Given the description of an element on the screen output the (x, y) to click on. 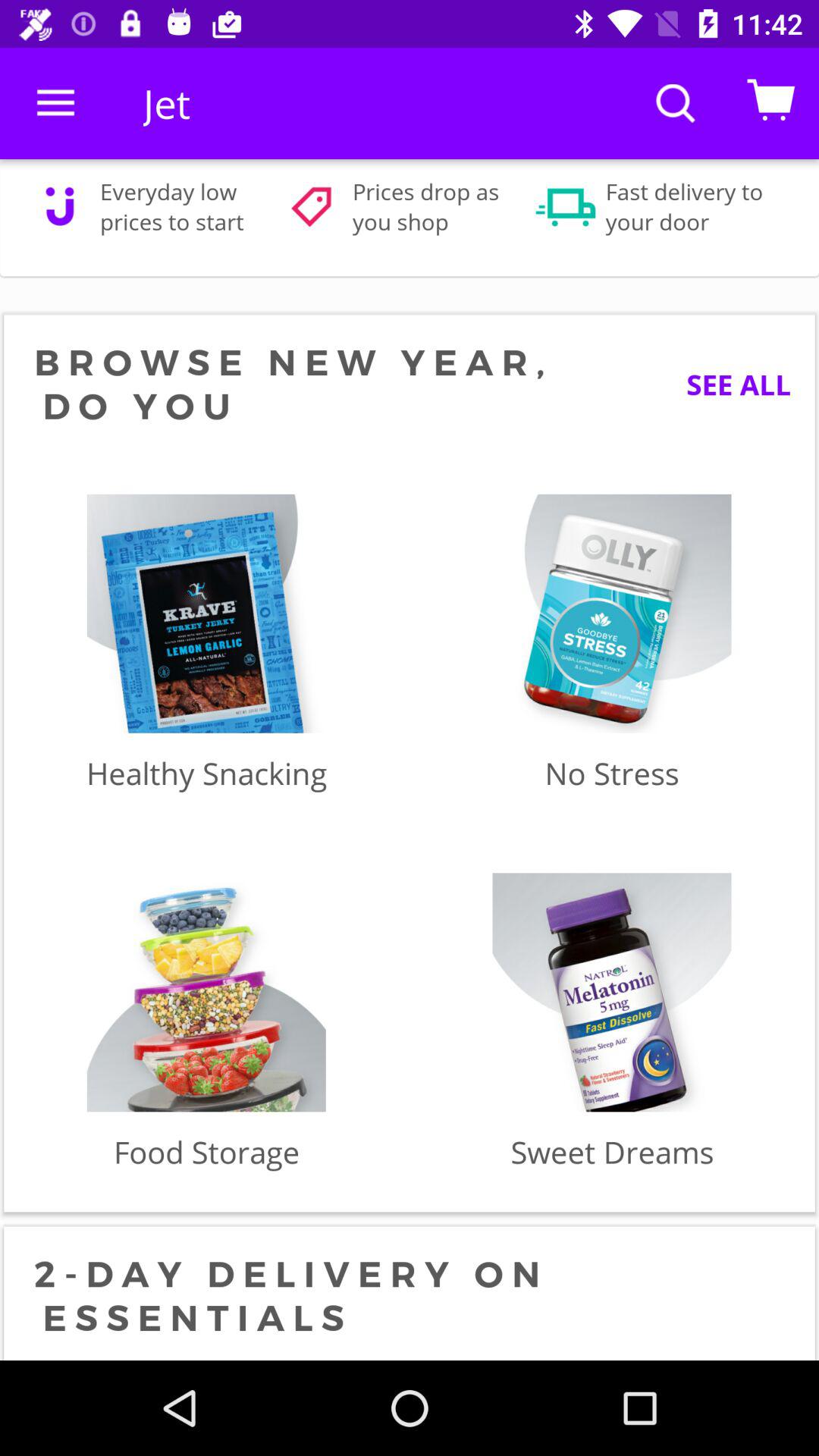
tap icon next to jet icon (55, 103)
